Given the description of an element on the screen output the (x, y) to click on. 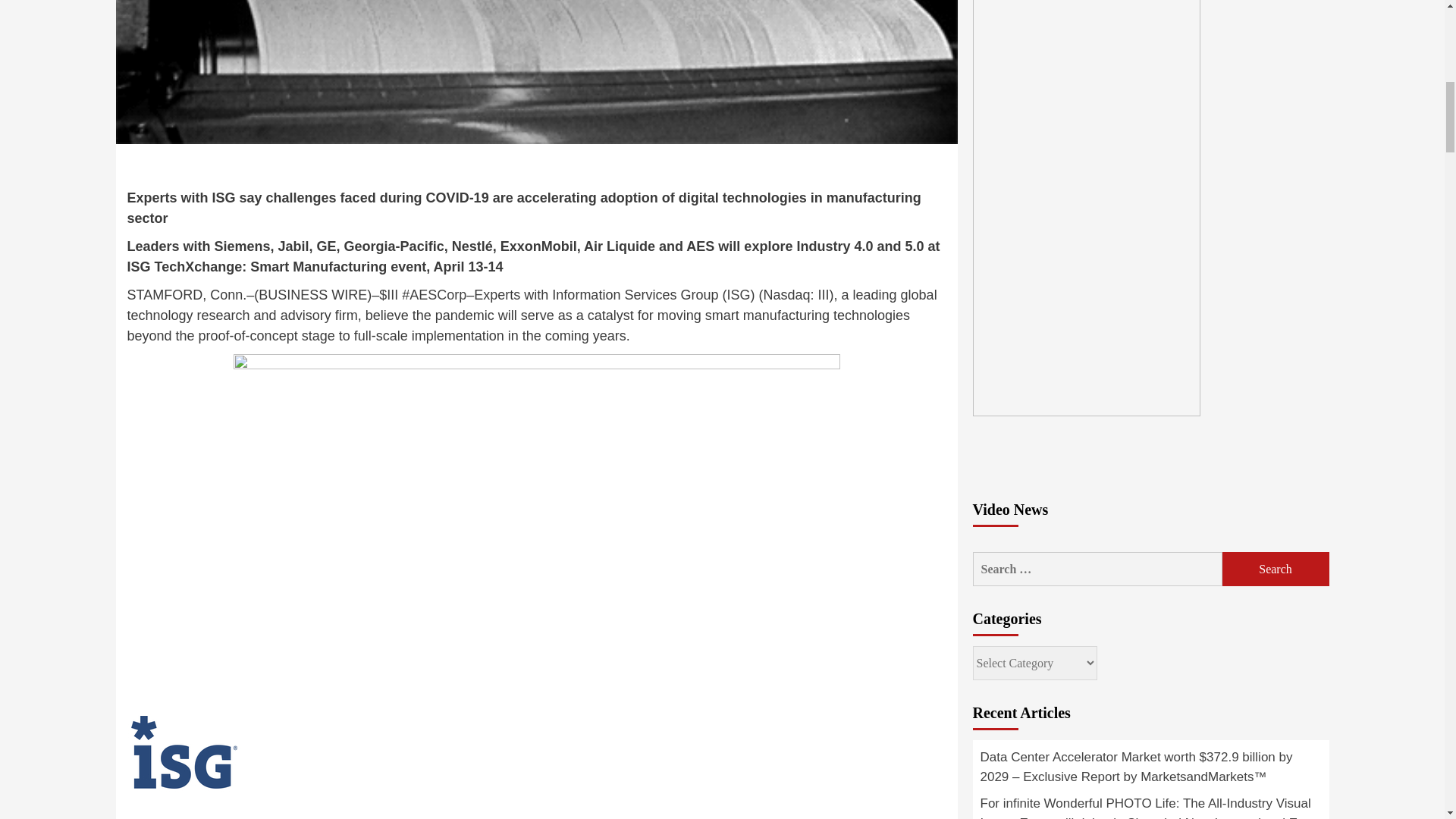
Search (1276, 569)
Search (1276, 569)
ISG (737, 294)
